Given the description of an element on the screen output the (x, y) to click on. 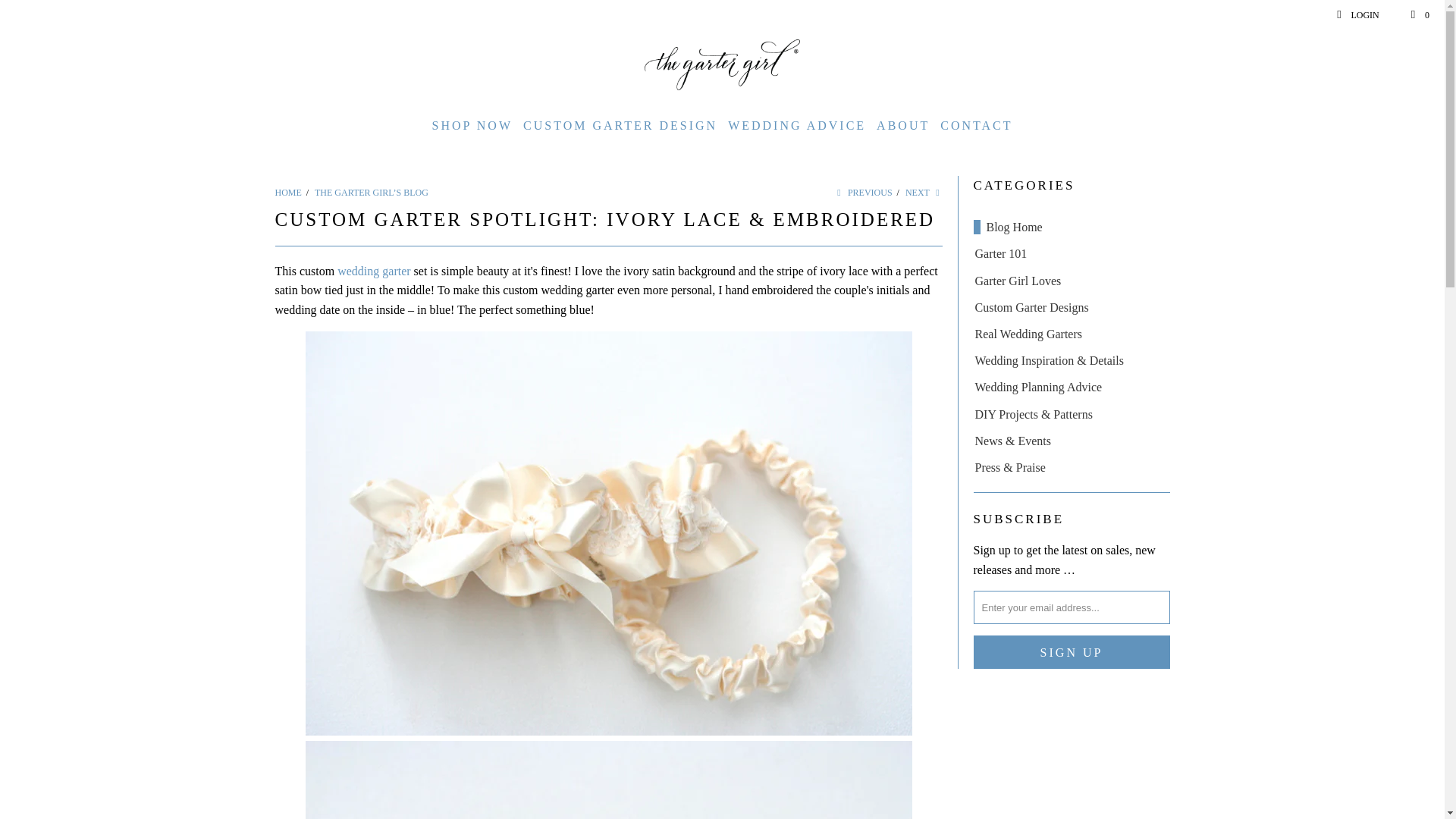
CONTACT (975, 126)
CUSTOM GARTER DESIGN (619, 126)
The Garter Girl (288, 192)
Sign Up (1072, 652)
My Account  (1357, 15)
SHOP NOW (472, 126)
WEDDING ADVICE (797, 126)
LOGIN (1357, 15)
ABOUT (903, 126)
